Given the description of an element on the screen output the (x, y) to click on. 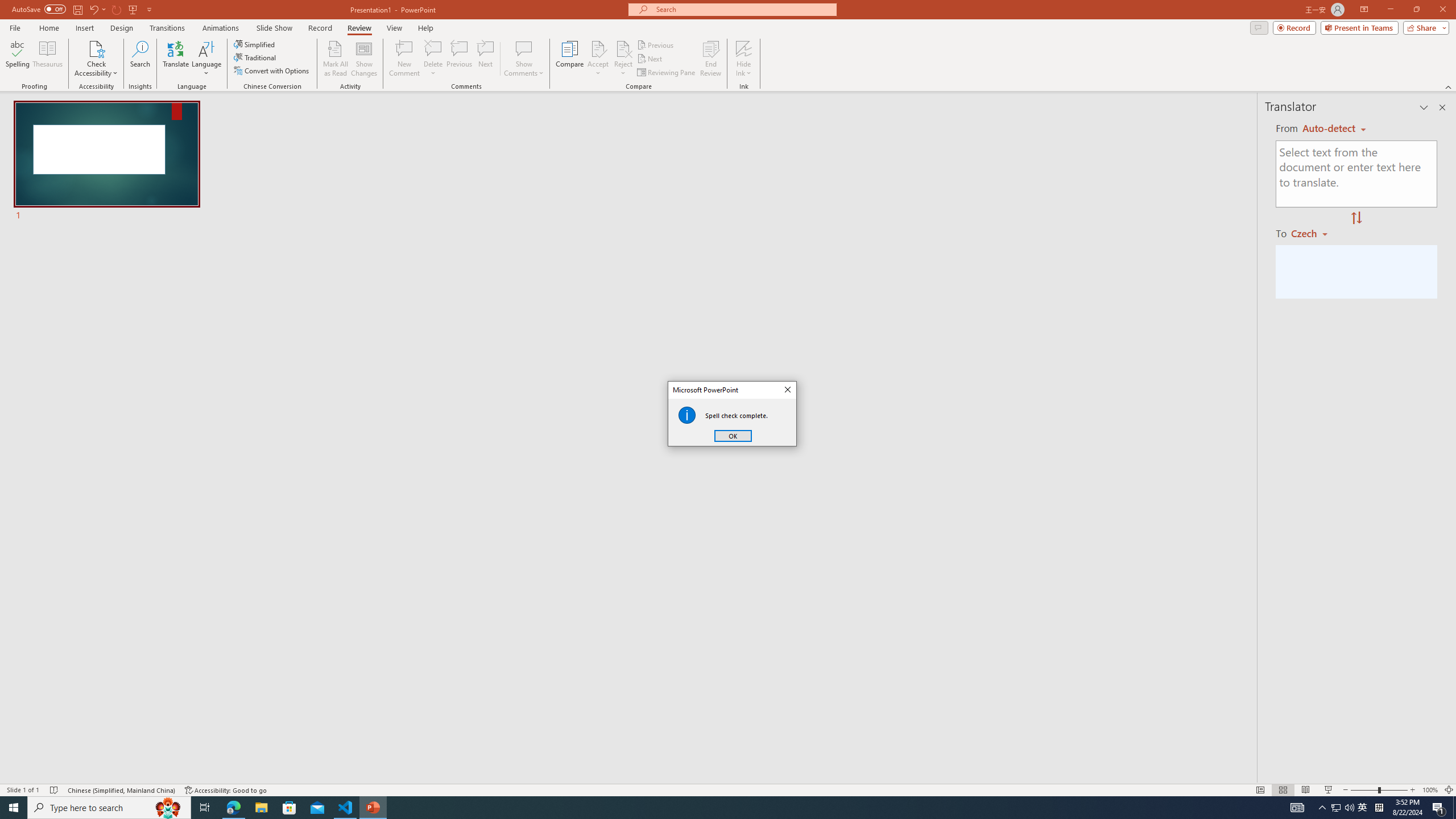
Zoom 100% (1430, 790)
New Comment (403, 58)
